Given the description of an element on the screen output the (x, y) to click on. 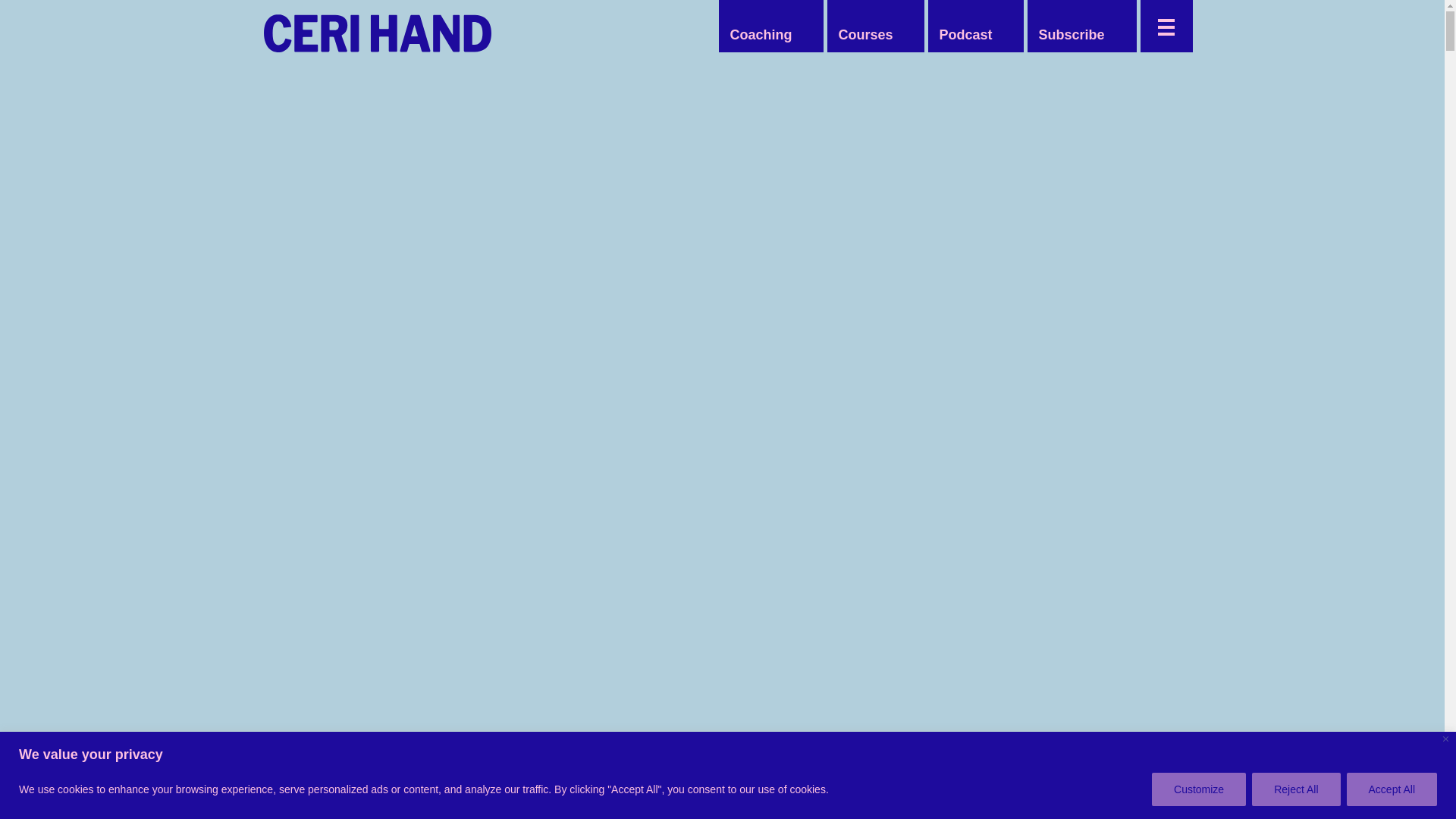
Accept All (1391, 788)
Subscribe (1070, 34)
Reject All (1295, 788)
Courses (864, 34)
Podcast (964, 34)
Coaching (760, 34)
Customize (1198, 788)
